Given the description of an element on the screen output the (x, y) to click on. 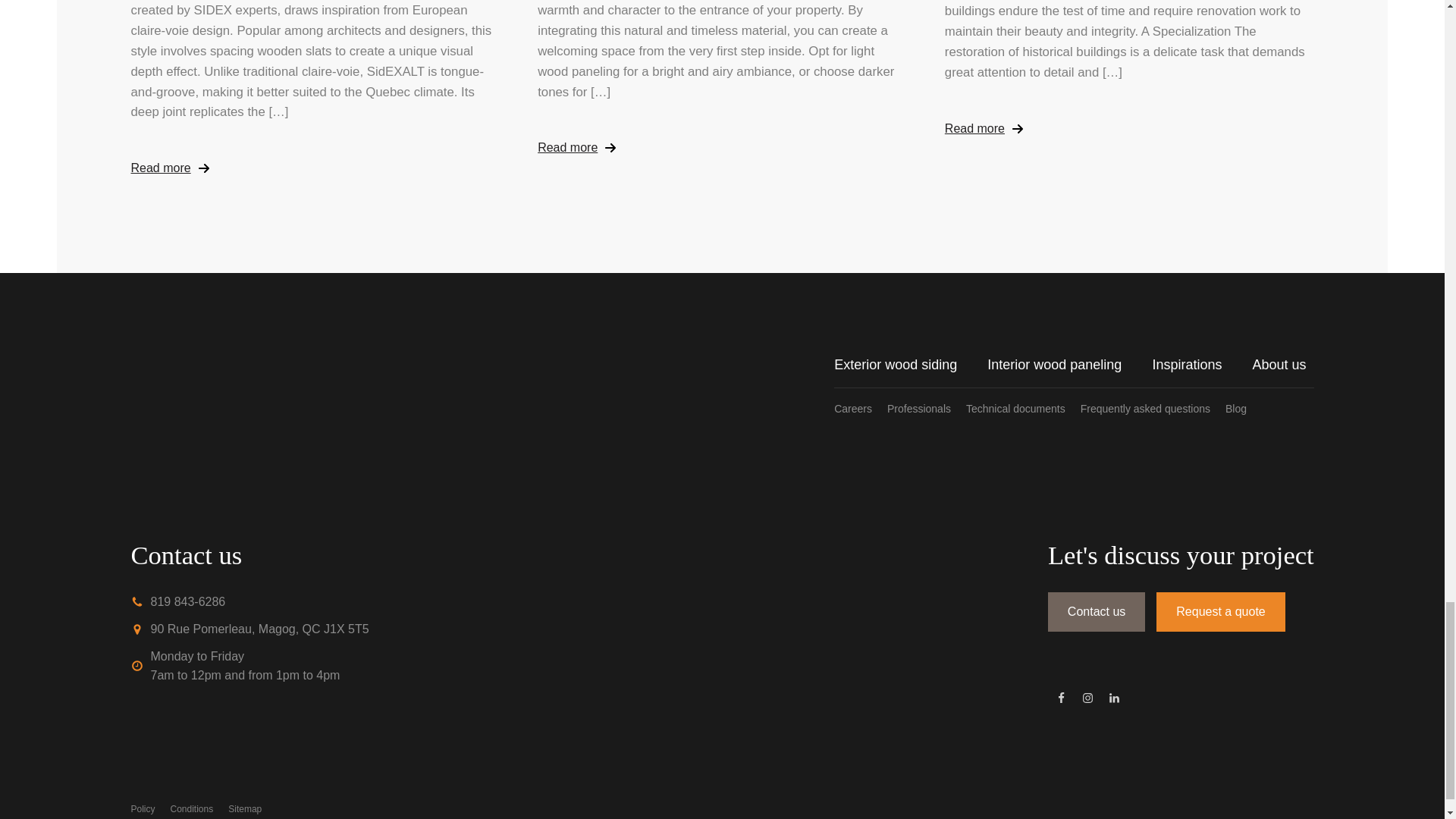
Exterior wood siding (910, 364)
Frequently asked questions (1152, 408)
Inspirations (1201, 364)
Professionals (926, 408)
About us (1282, 364)
Technical documents (1023, 408)
Blog (1239, 408)
Careers (860, 408)
Interior wood paneling (1069, 364)
